Given the description of an element on the screen output the (x, y) to click on. 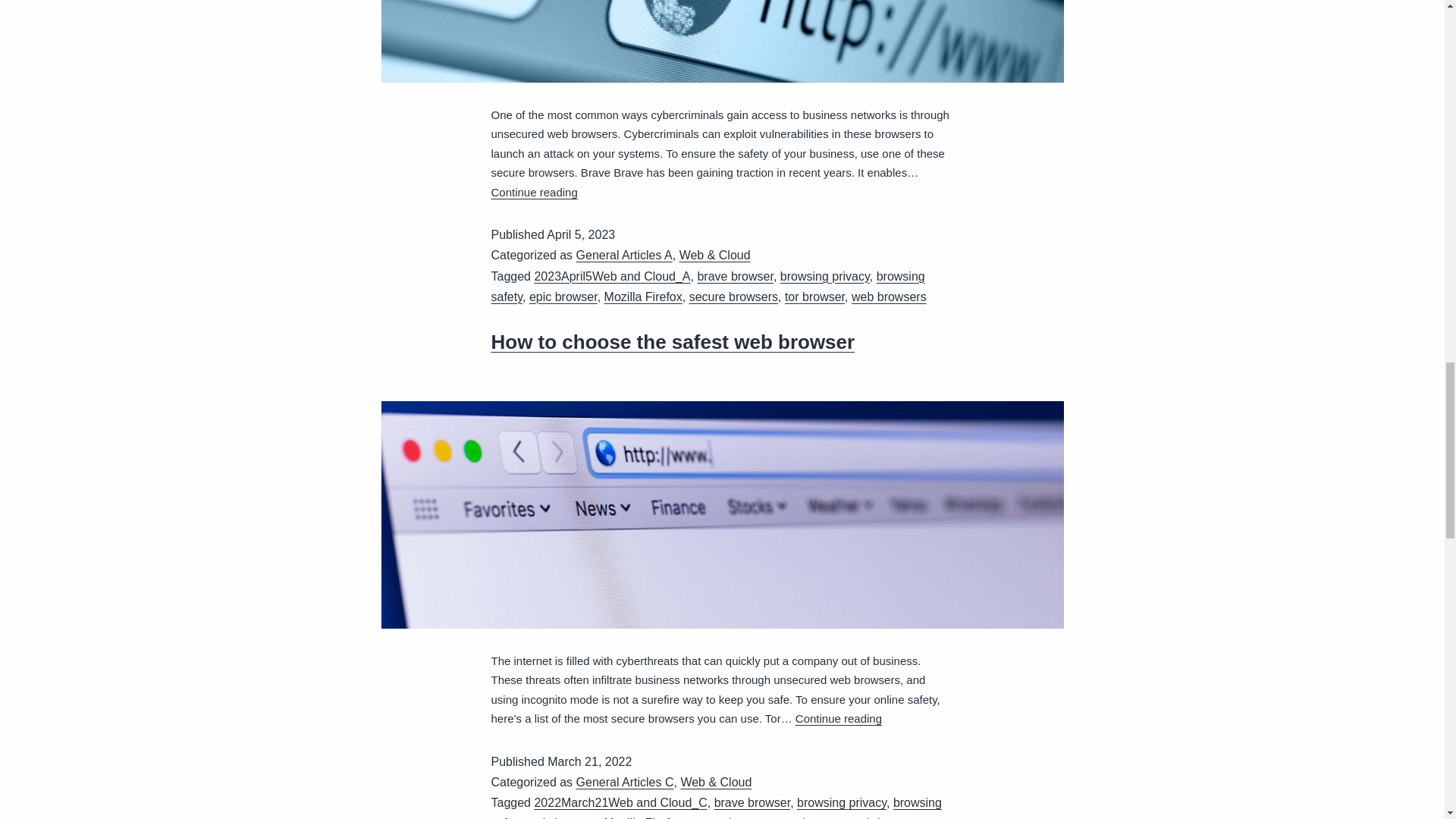
epic browser (562, 296)
browsing safety (708, 286)
browsing privacy (824, 276)
Continue reading (535, 192)
brave browser (735, 276)
General Articles A (624, 254)
Mozilla Firefox (643, 296)
